Given the description of an element on the screen output the (x, y) to click on. 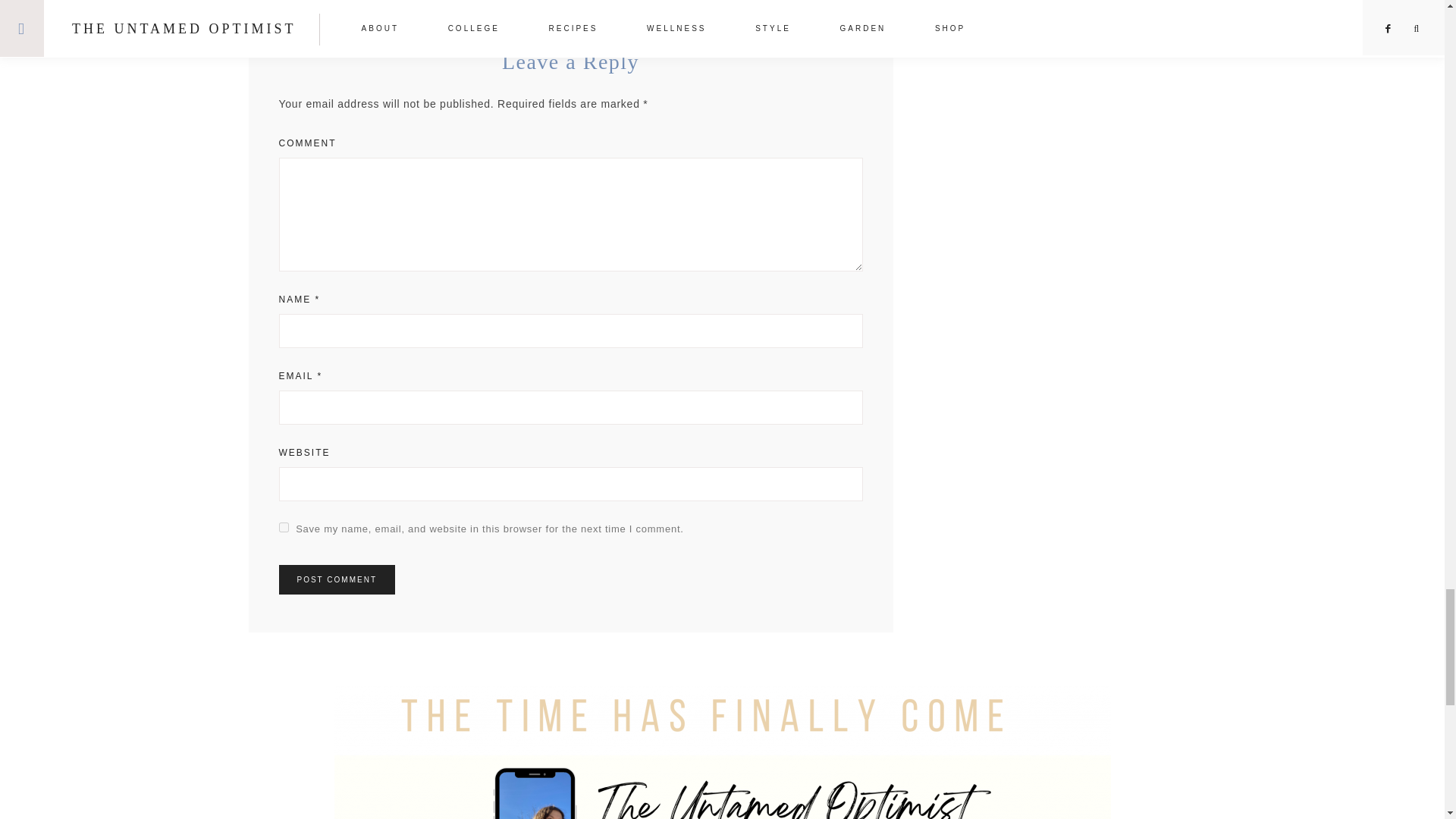
Post Comment (336, 579)
yes (283, 527)
